Given the description of an element on the screen output the (x, y) to click on. 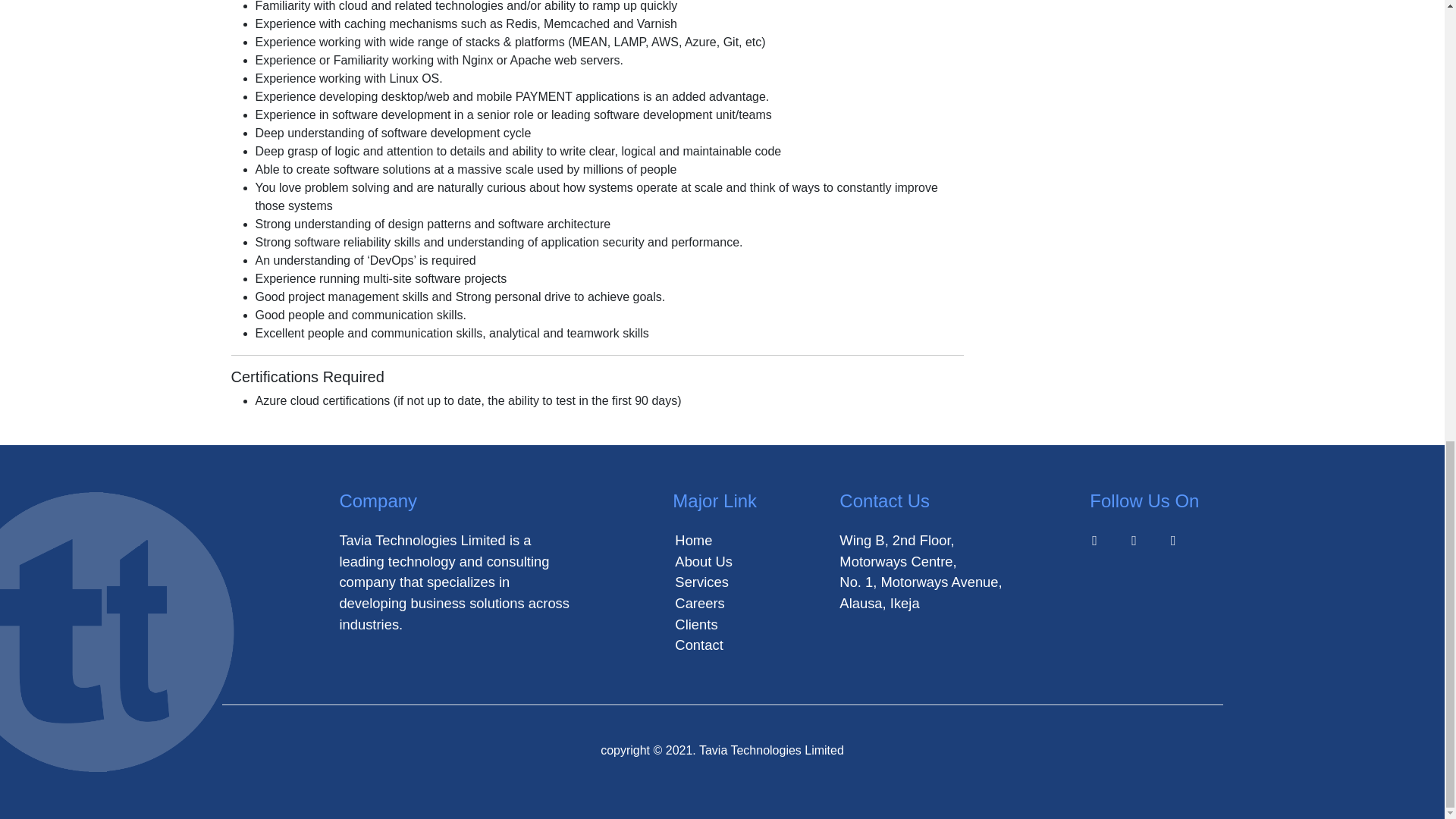
Contact (698, 644)
Clients (696, 624)
About Us (703, 561)
Home (693, 539)
Careers (699, 602)
Services (702, 581)
